Given the description of an element on the screen output the (x, y) to click on. 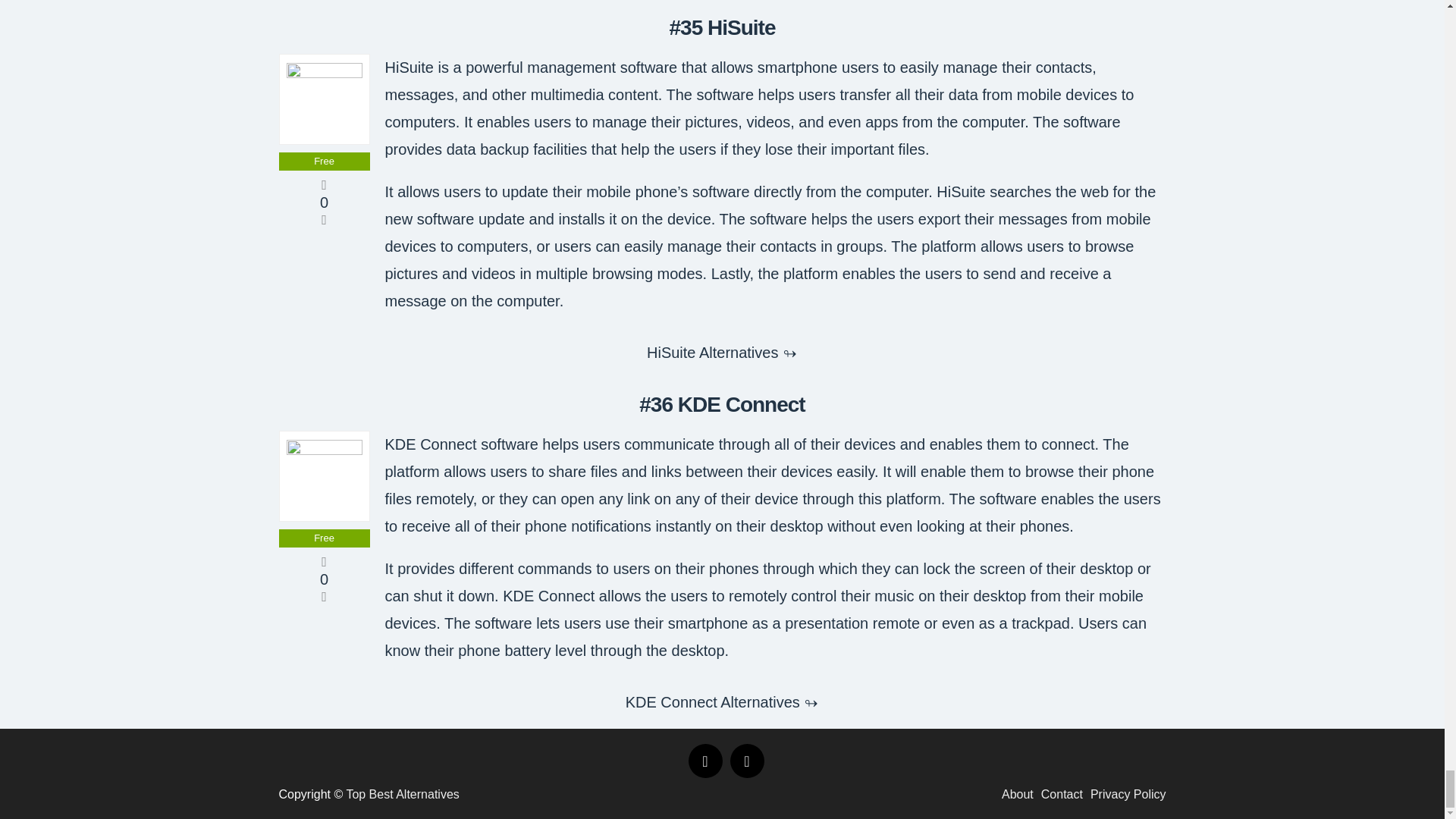
Facebook (705, 760)
Twitter (745, 760)
